Given the description of an element on the screen output the (x, y) to click on. 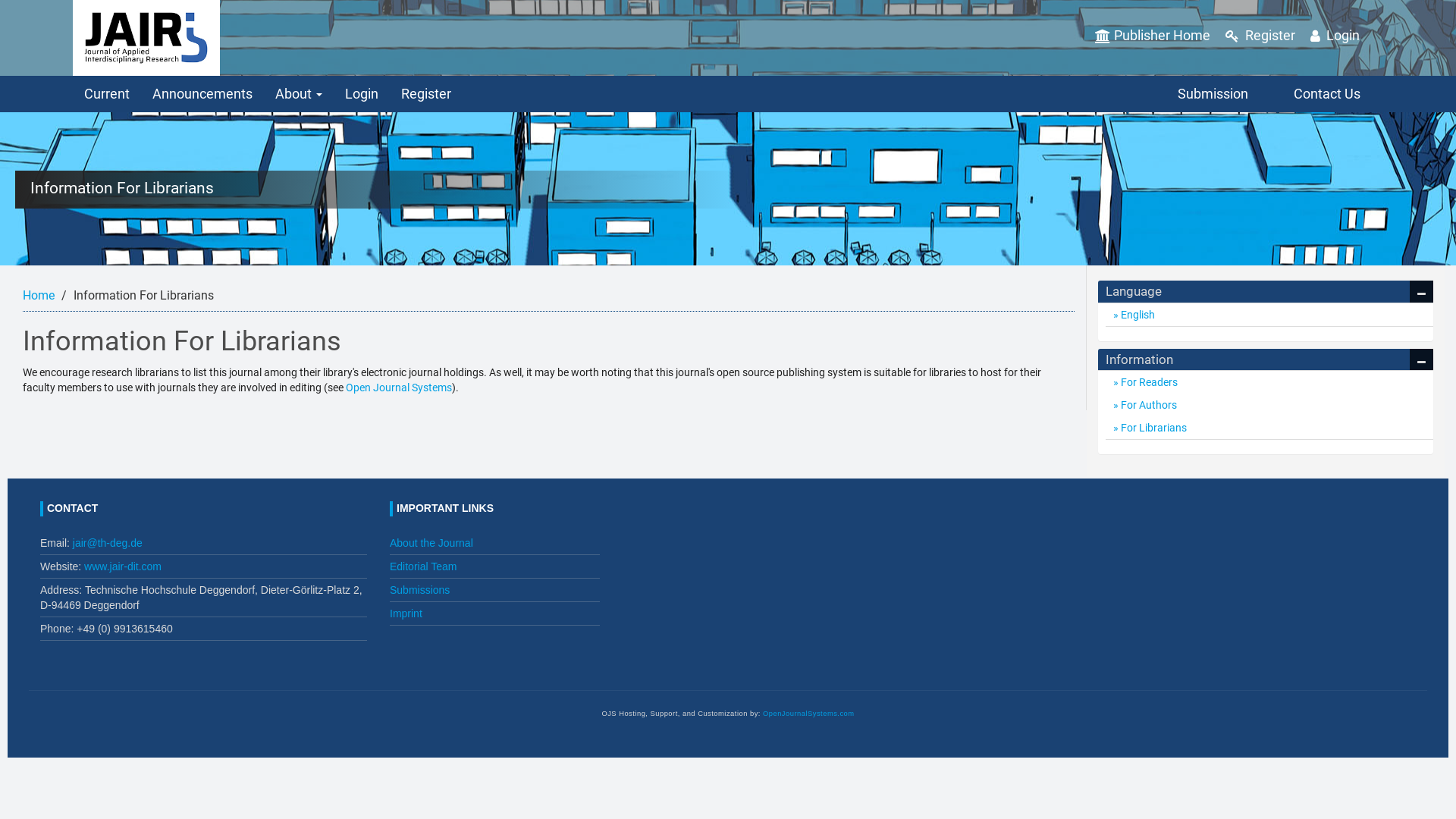
Login Element type: text (361, 93)
For Readers Element type: text (1269, 381)
English Element type: text (1269, 314)
Editorial Team Element type: text (422, 566)
Current Element type: text (106, 93)
Submission Element type: text (1212, 93)
Home Element type: text (38, 295)
Register Element type: text (1259, 35)
Imprint Element type: text (405, 613)
Submissions Element type: text (419, 589)
Announcements Element type: text (202, 93)
OpenJournalSystems.com Element type: text (808, 713)
About Element type: text (298, 93)
For Librarians Element type: text (1269, 427)
www.jair-dit.com Element type: text (122, 566)
Login Element type: text (1334, 35)
Register Element type: text (425, 93)
About the Journal Element type: text (431, 542)
jair@th-deg.de Element type: text (107, 542)
Open Journal Systems Element type: text (398, 387)
Contact Us Element type: text (1326, 93)
Publisher Home Element type: text (1152, 35)
For Authors Element type: text (1269, 404)
